Given the description of an element on the screen output the (x, y) to click on. 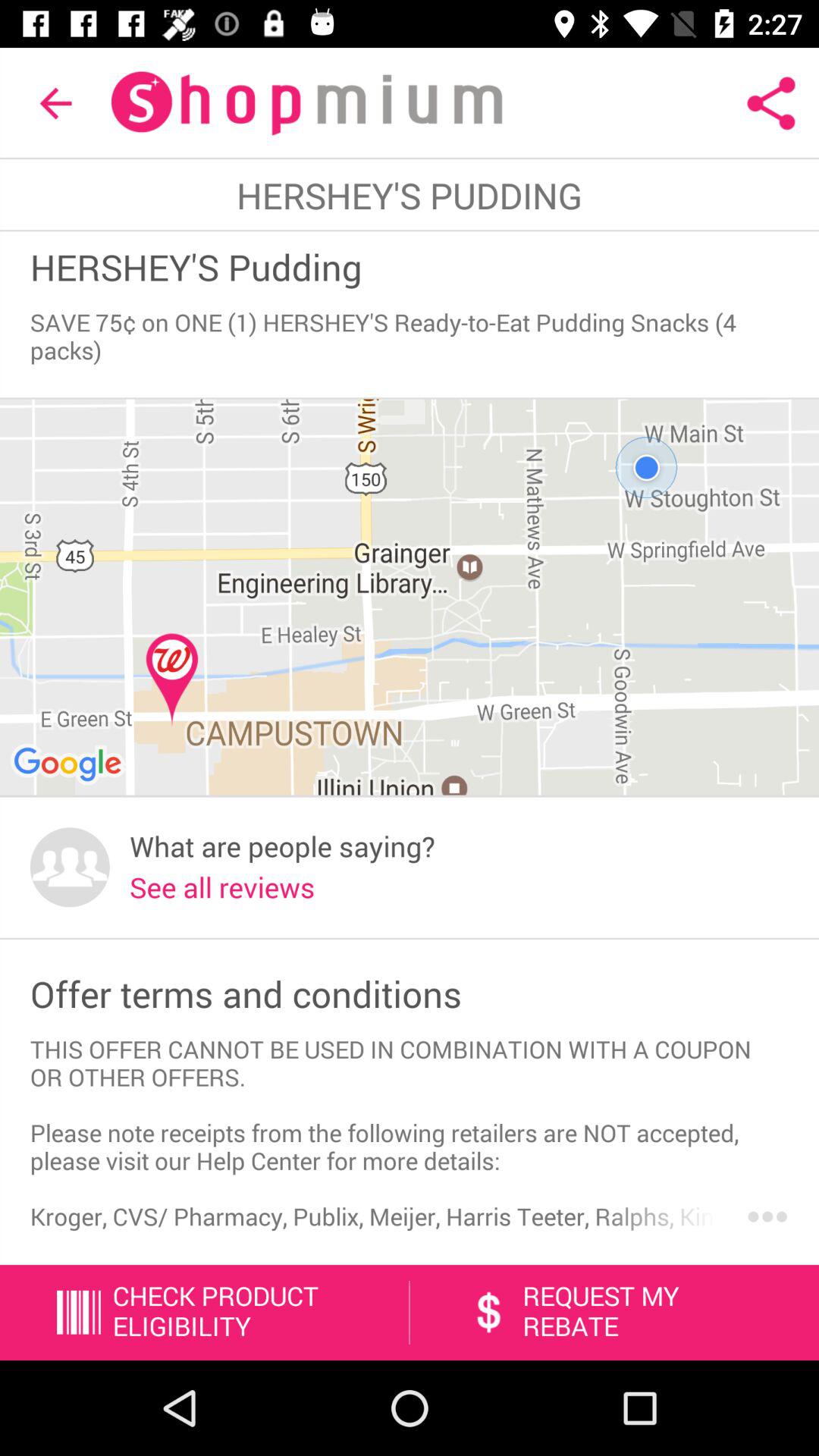
tap the item at the top left corner (55, 103)
